Given the description of an element on the screen output the (x, y) to click on. 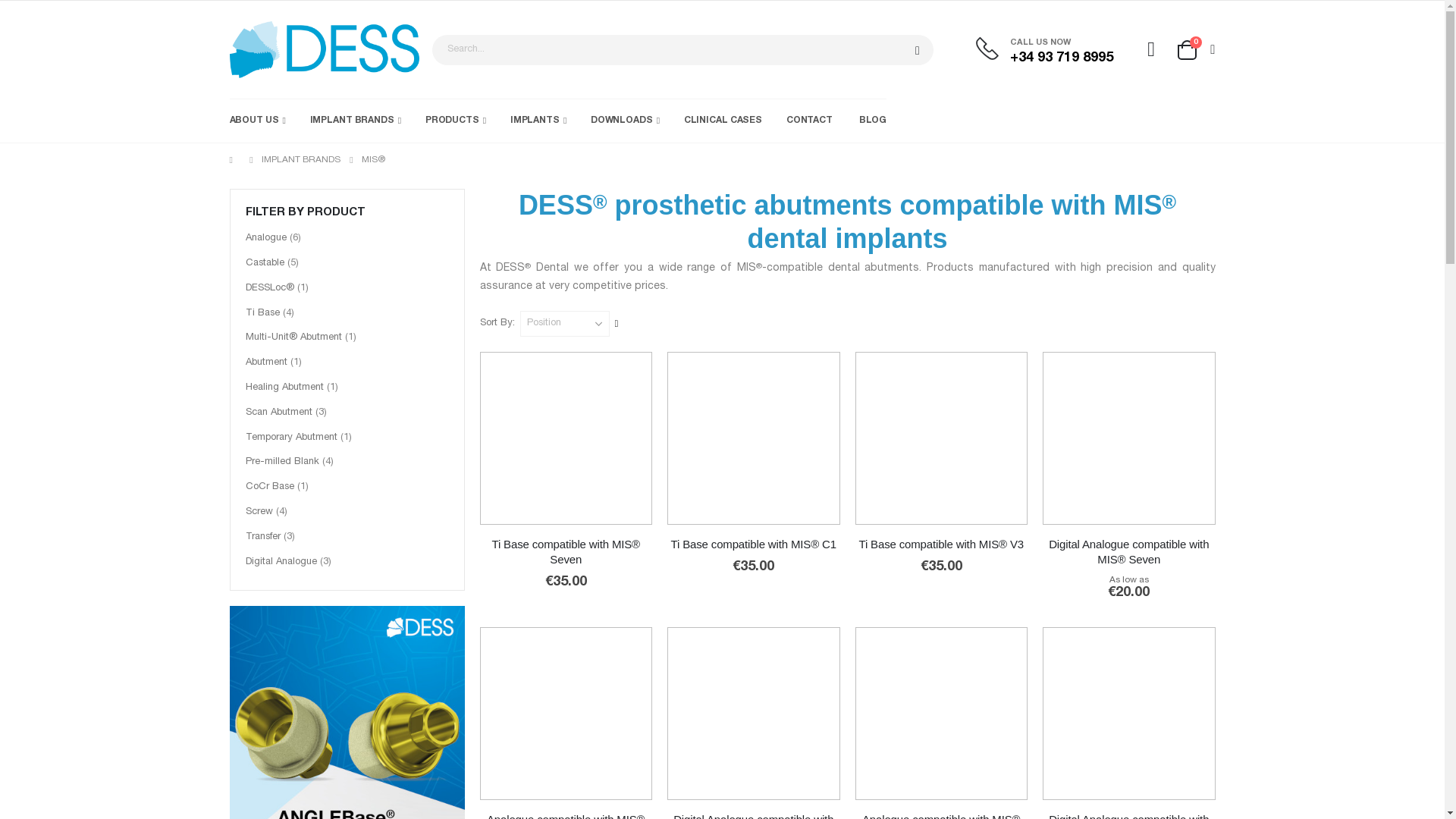
Implant Brands (355, 120)
About us (256, 120)
Search (916, 50)
My Account (1150, 49)
DESS Abutments (323, 49)
IMPLANT BRANDS (355, 120)
ABOUT US (256, 120)
